Given the description of an element on the screen output the (x, y) to click on. 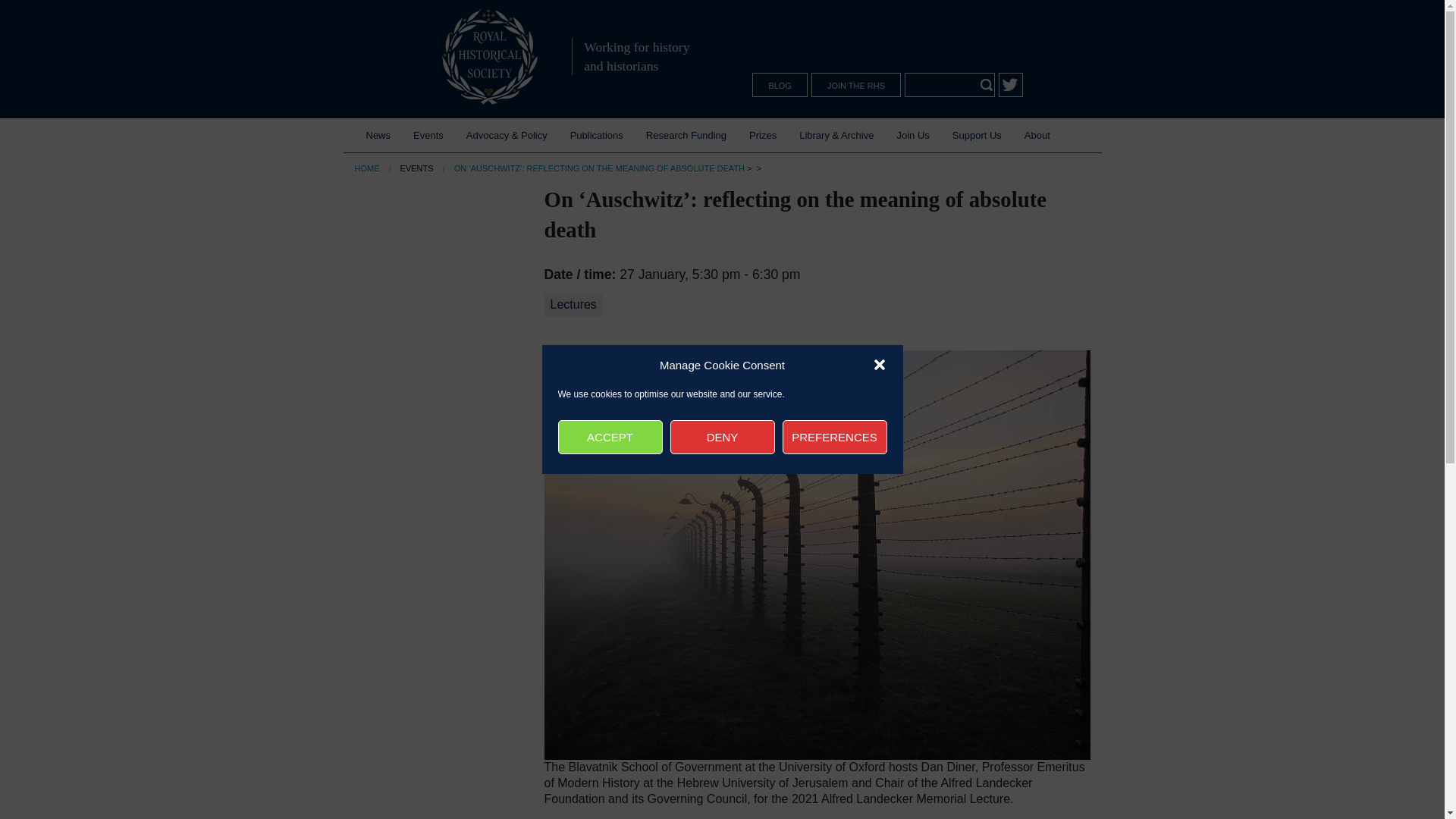
DENY (721, 437)
Go to RHS. (367, 168)
Publications (596, 134)
Research Funding (686, 134)
PREFERENCES (834, 437)
JOIN THE RHS (855, 84)
Join Us (912, 134)
Events (427, 134)
About (1037, 134)
Support Us (976, 134)
Prizes (762, 134)
Go to Events. (416, 167)
News (379, 134)
BLOG (780, 84)
ACCEPT (609, 437)
